Given the description of an element on the screen output the (x, y) to click on. 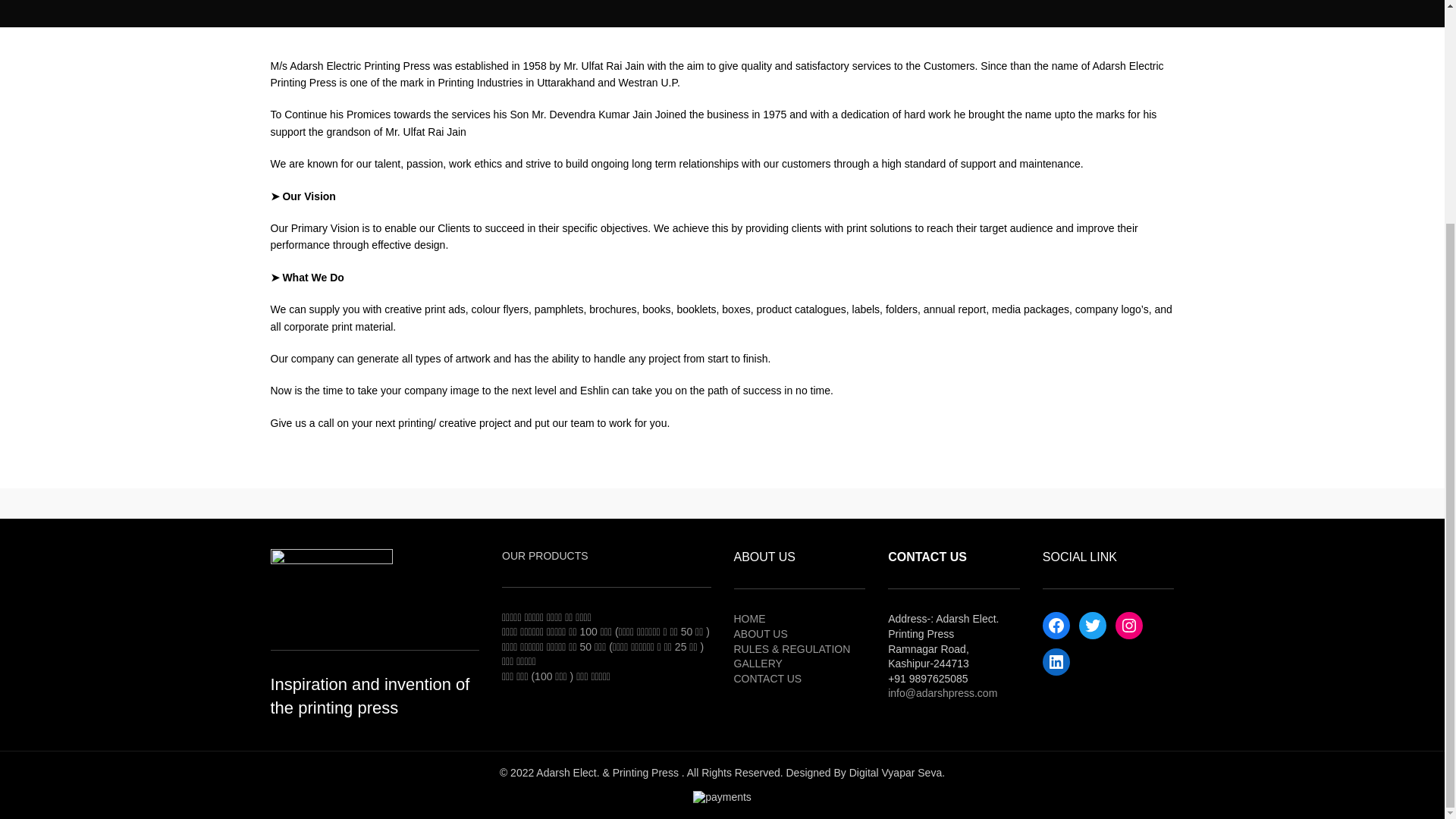
Log in (950, 15)
